Given the description of an element on the screen output the (x, y) to click on. 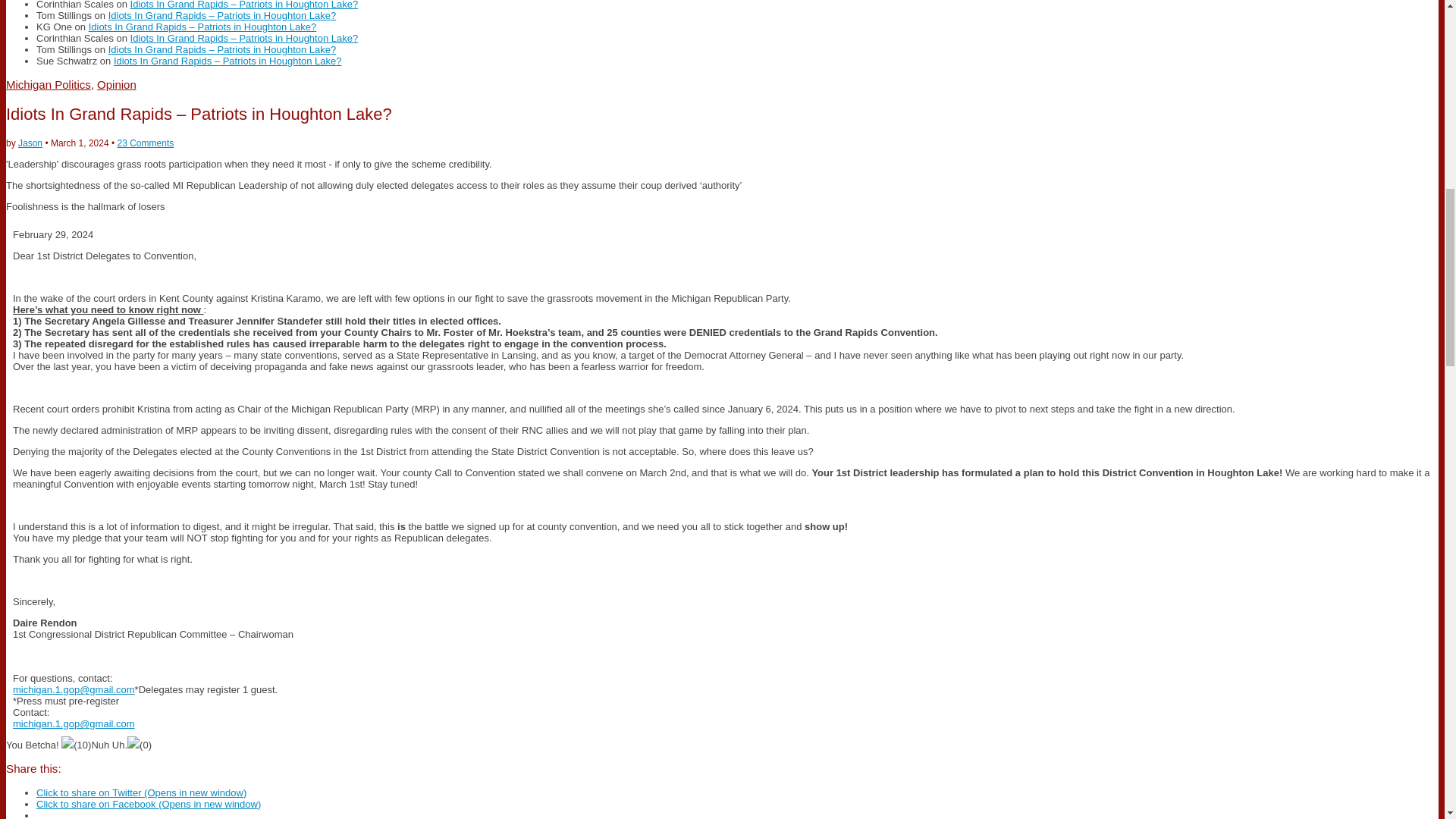
Click to share on Twitter (141, 792)
Click to share on Facebook (148, 803)
Posts by Jason (29, 143)
